Given the description of an element on the screen output the (x, y) to click on. 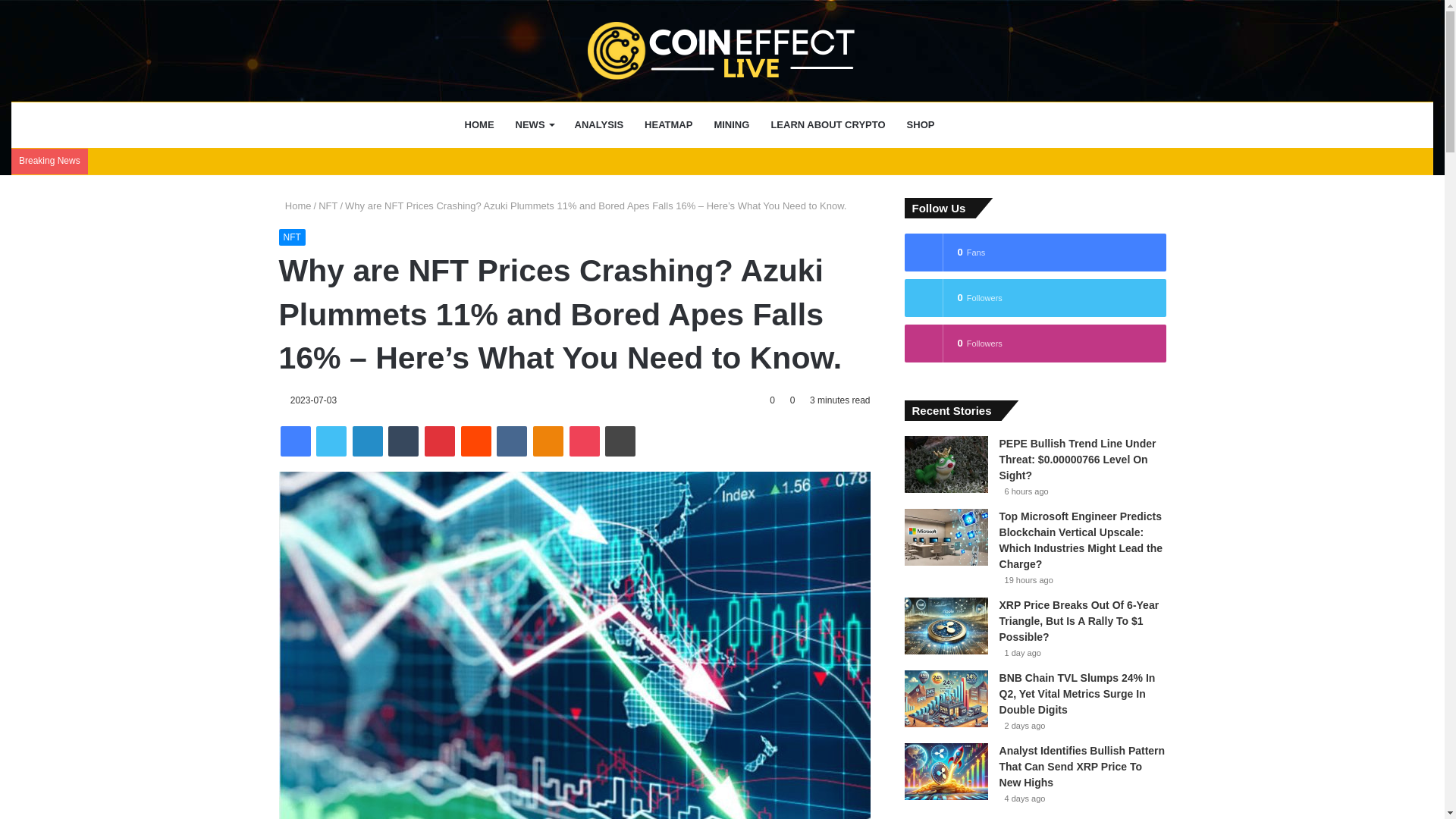
Twitter (330, 440)
Odnoklassniki (547, 440)
Facebook (296, 440)
LinkedIn (367, 440)
Tumblr (403, 440)
LinkedIn (367, 440)
ANALYSIS (599, 125)
Odnoklassniki (547, 440)
Print (619, 440)
Facebook (296, 440)
